Given the description of an element on the screen output the (x, y) to click on. 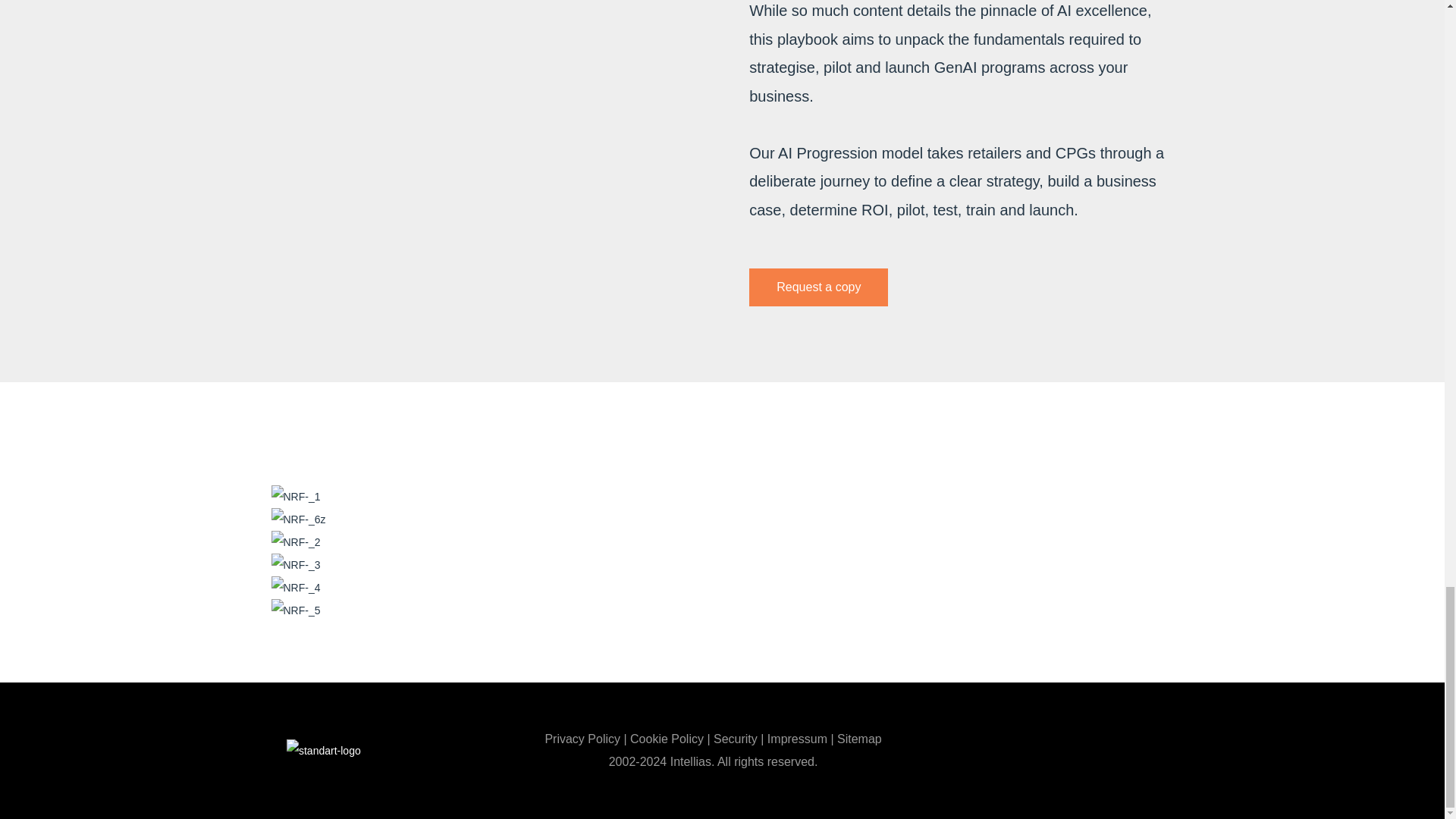
Cookie Policy (666, 738)
Security (735, 738)
Request a copy (818, 287)
Impressum (797, 738)
Privacy Policy (582, 738)
Sitemap (859, 738)
standart-logo (323, 750)
